Given the description of an element on the screen output the (x, y) to click on. 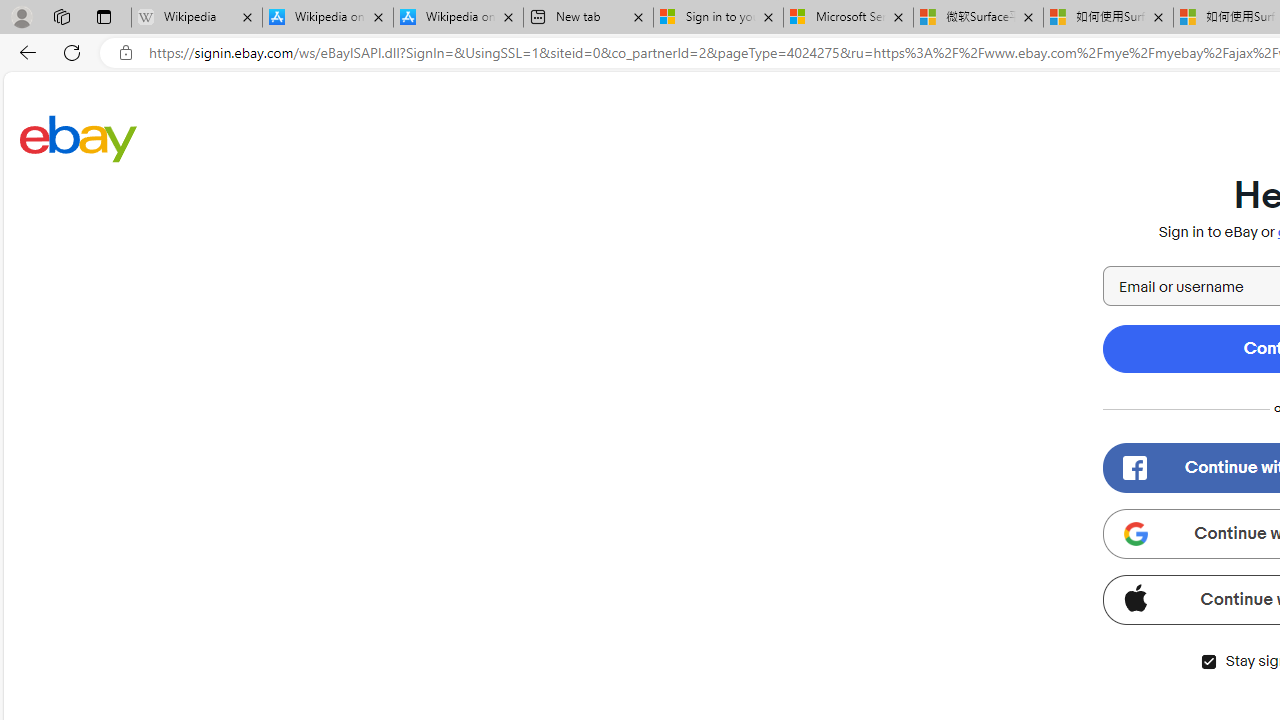
Class: ggl-icon (1135, 533)
Class: apple-icon (1135, 597)
